Given the description of an element on the screen output the (x, y) to click on. 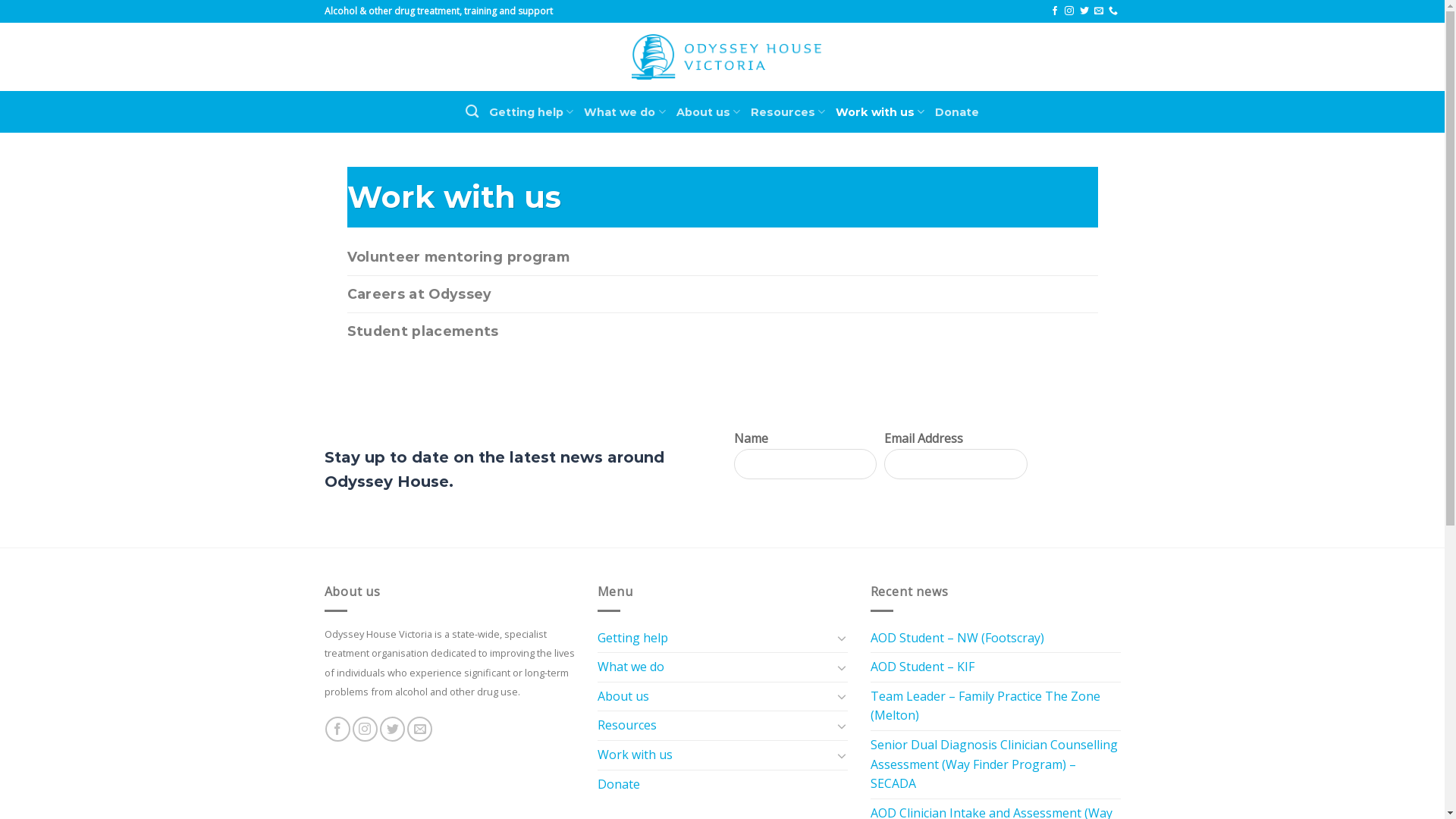
What we do Element type: text (624, 111)
Work with us Element type: text (879, 111)
Call us Element type: hover (1112, 11)
What we do Element type: text (714, 666)
Getting help Element type: text (714, 638)
About us Element type: text (714, 696)
Odyssey House Victoria Element type: hover (725, 56)
Volunteer mentoring program Element type: text (722, 256)
Resources Element type: text (787, 111)
Follow on Instagram Element type: hover (364, 728)
Work with us Element type: text (714, 754)
About us Element type: text (708, 111)
Follow on Facebook Element type: hover (337, 728)
Donate Element type: text (957, 111)
Student placements Element type: text (722, 331)
Getting help Element type: text (531, 111)
Follow on Twitter Element type: hover (1083, 11)
Careers at Odyssey Element type: text (722, 294)
Follow on Instagram Element type: hover (1068, 11)
Follow on Twitter Element type: hover (391, 728)
Donate Element type: text (618, 784)
Follow on Facebook Element type: hover (1054, 11)
Send us an email Element type: hover (419, 728)
Submit Element type: text (1073, 463)
Resources Element type: text (714, 725)
Send us an email Element type: hover (1098, 11)
